Given the description of an element on the screen output the (x, y) to click on. 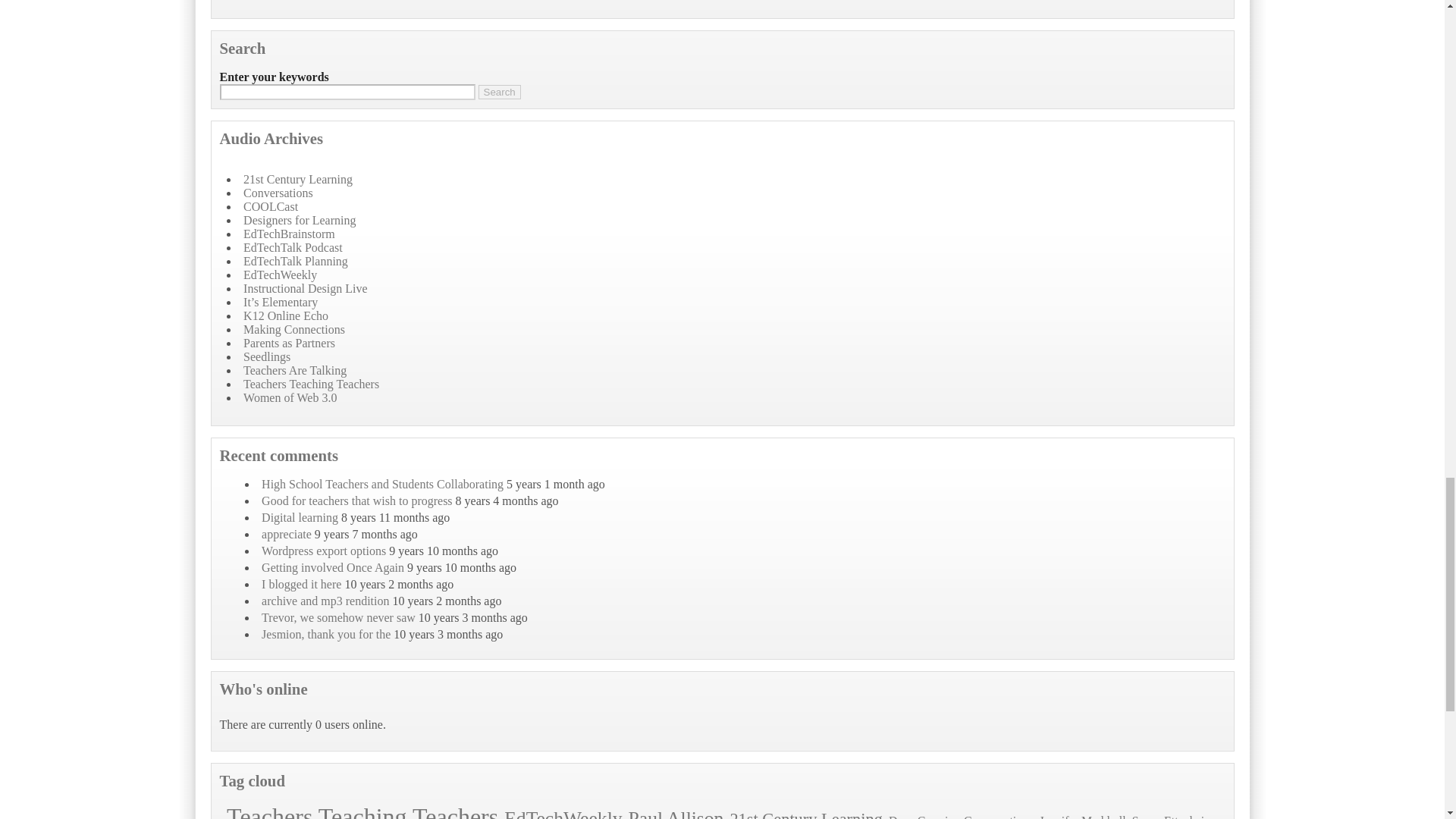
Search (498, 92)
